Given the description of an element on the screen output the (x, y) to click on. 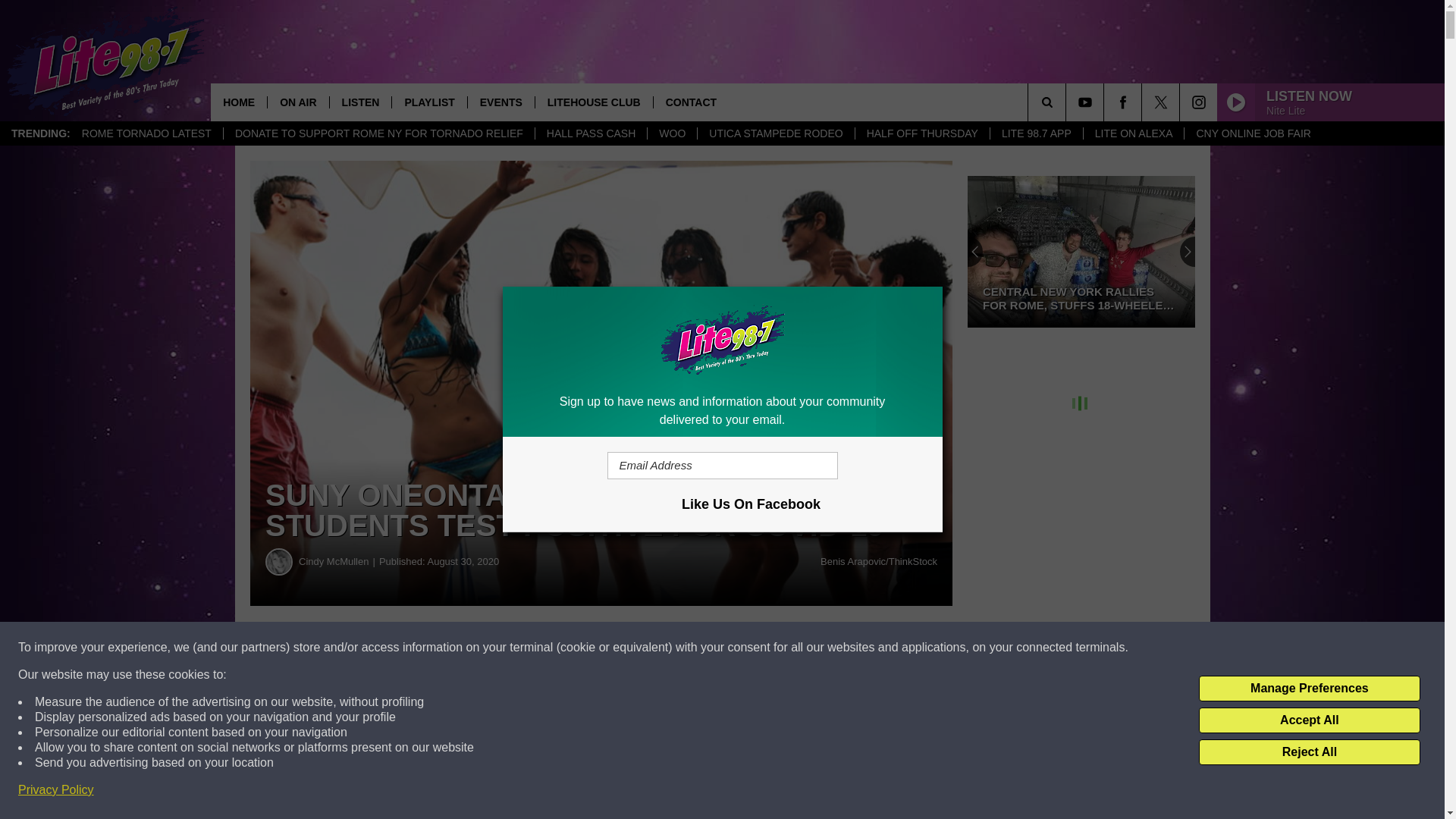
WOO (671, 133)
LISTEN (360, 102)
Accept All (1309, 720)
EVENTS (500, 102)
LITE ON ALEXA (1134, 133)
ROME TORNADO LATEST (145, 133)
Share on Twitter (741, 647)
Privacy Policy (55, 789)
UTICA STAMPEDE RODEO (775, 133)
Reject All (1309, 751)
LITEHOUSE CLUB (593, 102)
ON AIR (297, 102)
Manage Preferences (1309, 688)
CNY ONLINE JOB FAIR (1252, 133)
DONATE TO SUPPORT ROME NY FOR TORNADO RELIEF (378, 133)
